Given the description of an element on the screen output the (x, y) to click on. 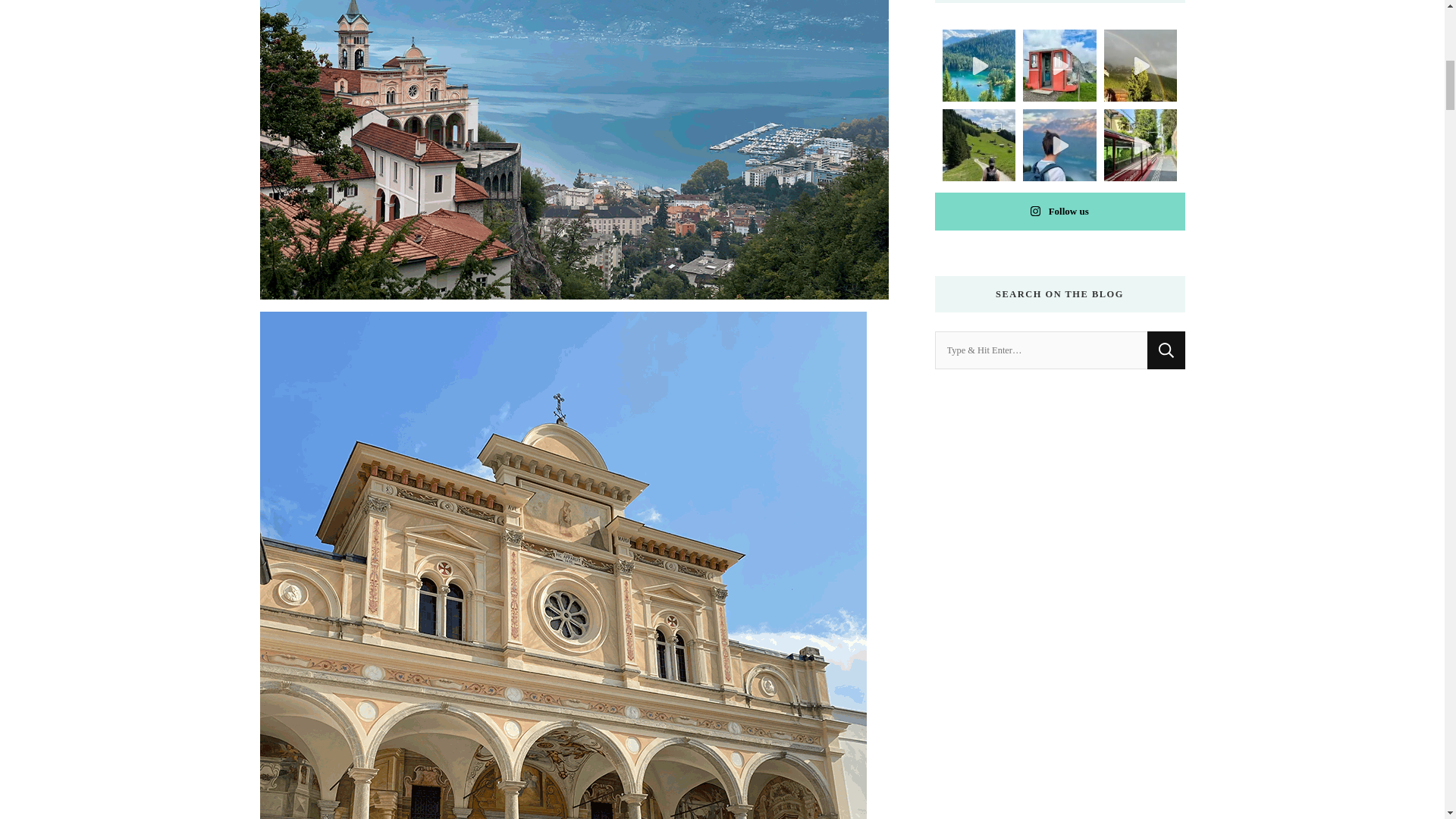
Search (1166, 350)
Search (1166, 350)
